Given the description of an element on the screen output the (x, y) to click on. 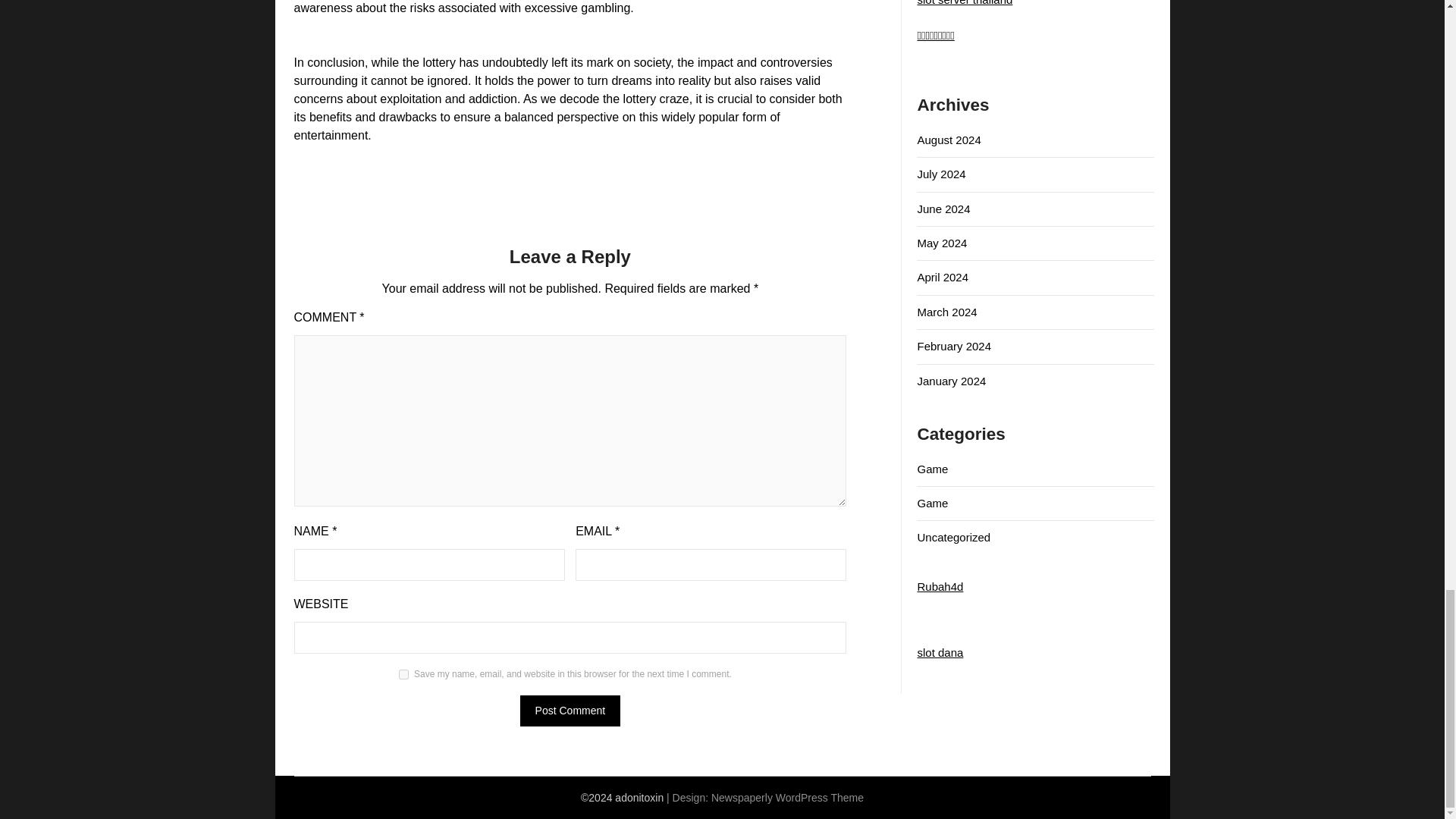
Post Comment (570, 710)
yes (403, 674)
Post Comment (570, 710)
